Given the description of an element on the screen output the (x, y) to click on. 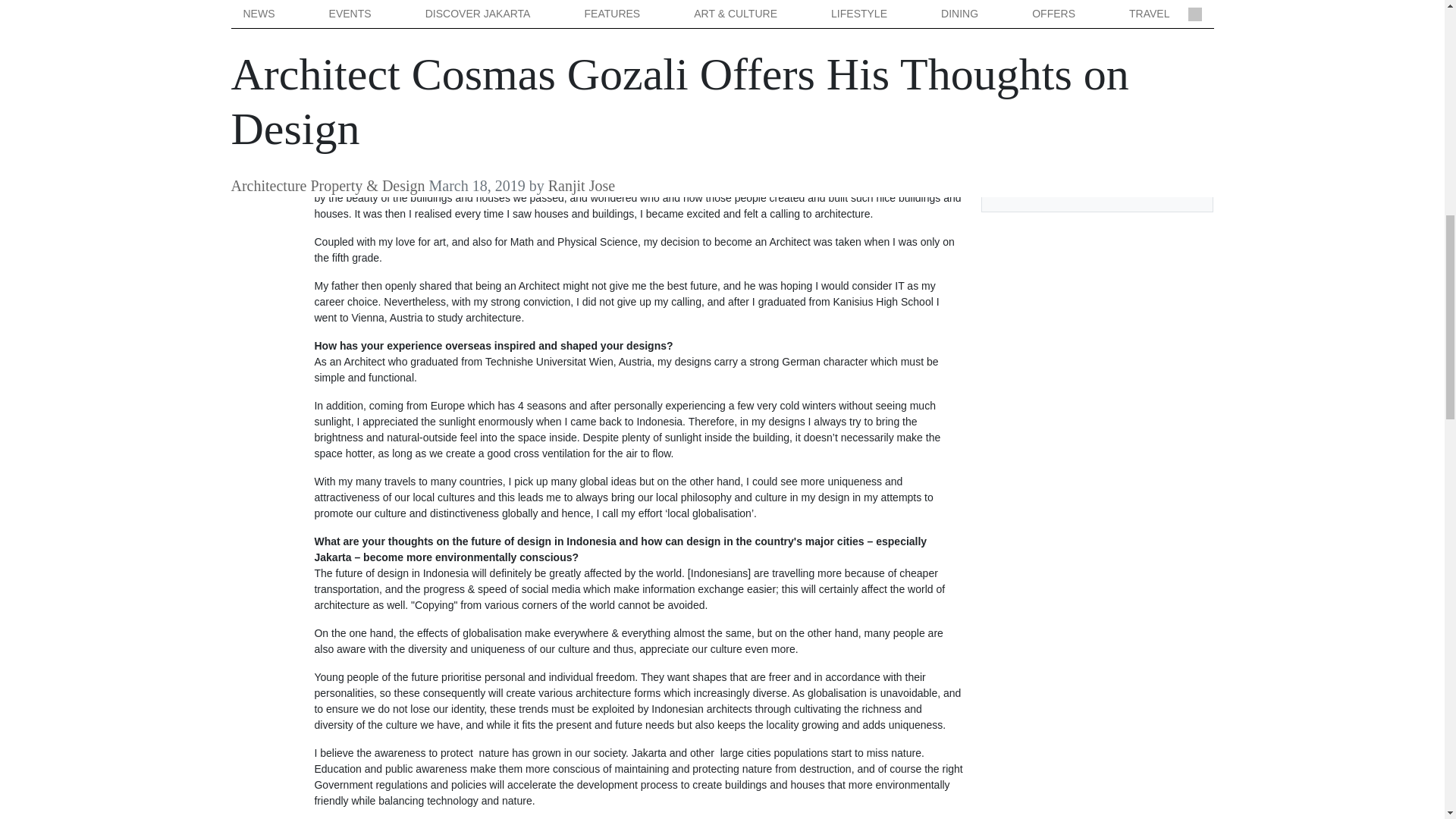
Community (1021, 136)
News (1007, 28)
